Given the description of an element on the screen output the (x, y) to click on. 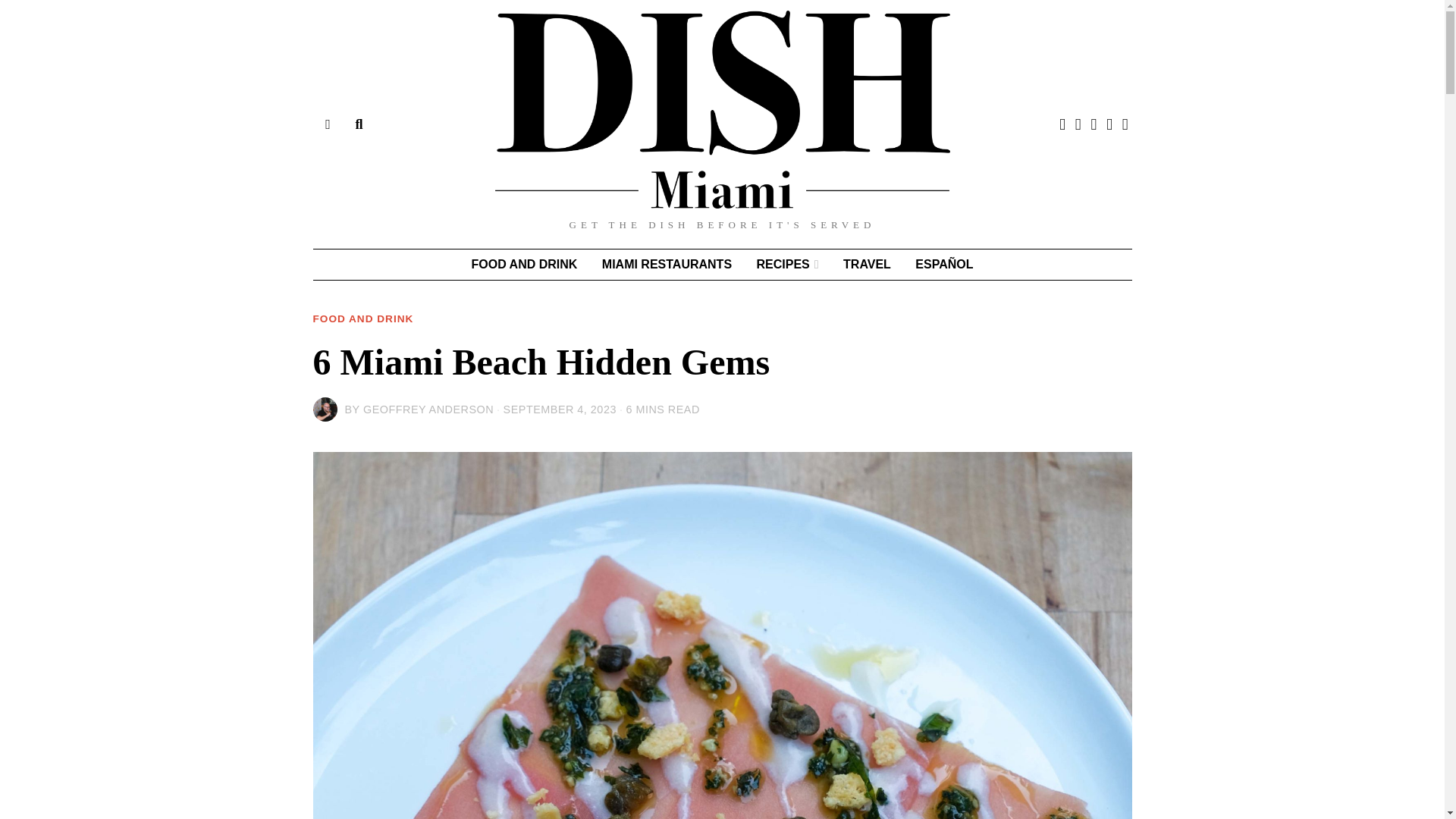
FOOD AND DRINK (524, 264)
FOOD AND DRINK (363, 318)
MIAMI RESTAURANTS (666, 264)
GEOFFREY ANDERSON (427, 409)
RECIPES (787, 264)
TRAVEL (866, 264)
